Given the description of an element on the screen output the (x, y) to click on. 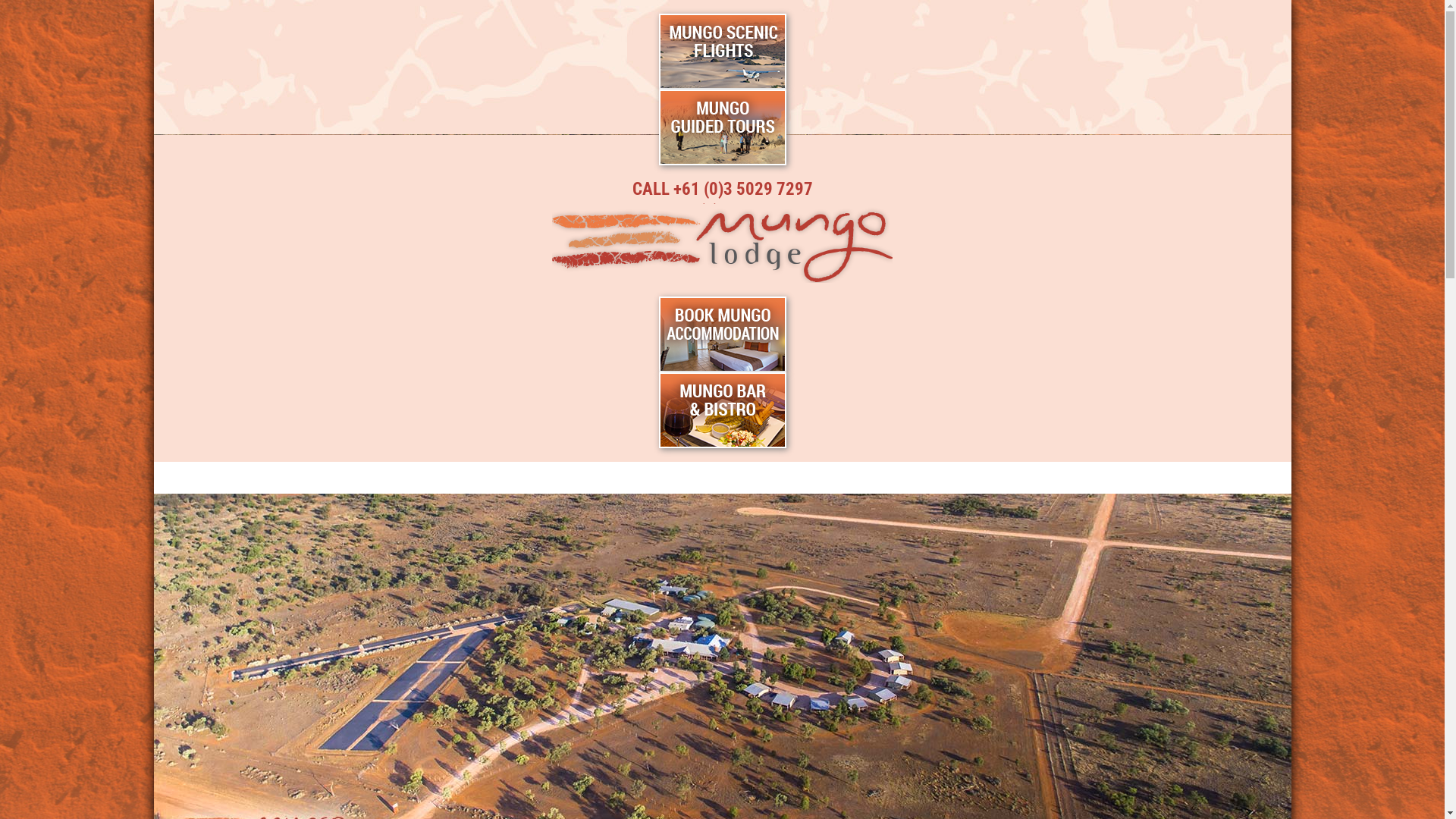
About Us Element type: text (983, 477)
CALL +61 (0)3 5029 7297 Element type: text (722, 188)
Bar & Bistro Element type: text (741, 477)
Mungo National Park Element type: text (247, 477)
Contact Element type: text (1081, 477)
Mungo Accommodation Element type: text (445, 477)
Mungo Tours Element type: text (615, 477)
Things To Do Element type: text (867, 477)
